Given the description of an element on the screen output the (x, y) to click on. 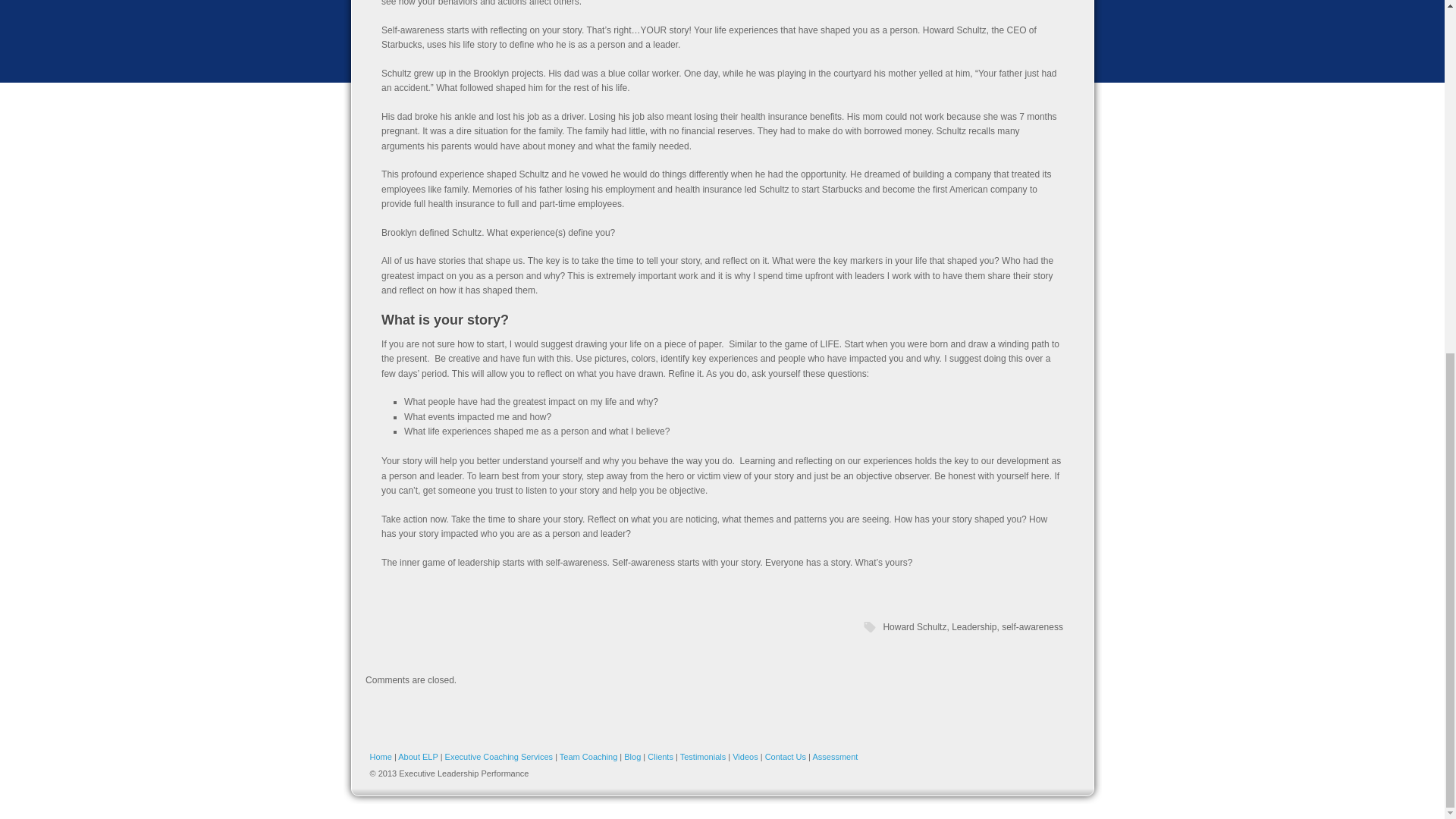
Contact Us (786, 756)
Home (380, 756)
Team Coaching (588, 756)
Leadership (973, 626)
Blog (632, 756)
Howard Schultz (914, 626)
self-awareness (1031, 626)
Testimonials (702, 756)
Clients (659, 756)
Executive Coaching Services (499, 756)
About ELP (417, 756)
Assessment (834, 756)
Videos (744, 756)
